Given the description of an element on the screen output the (x, y) to click on. 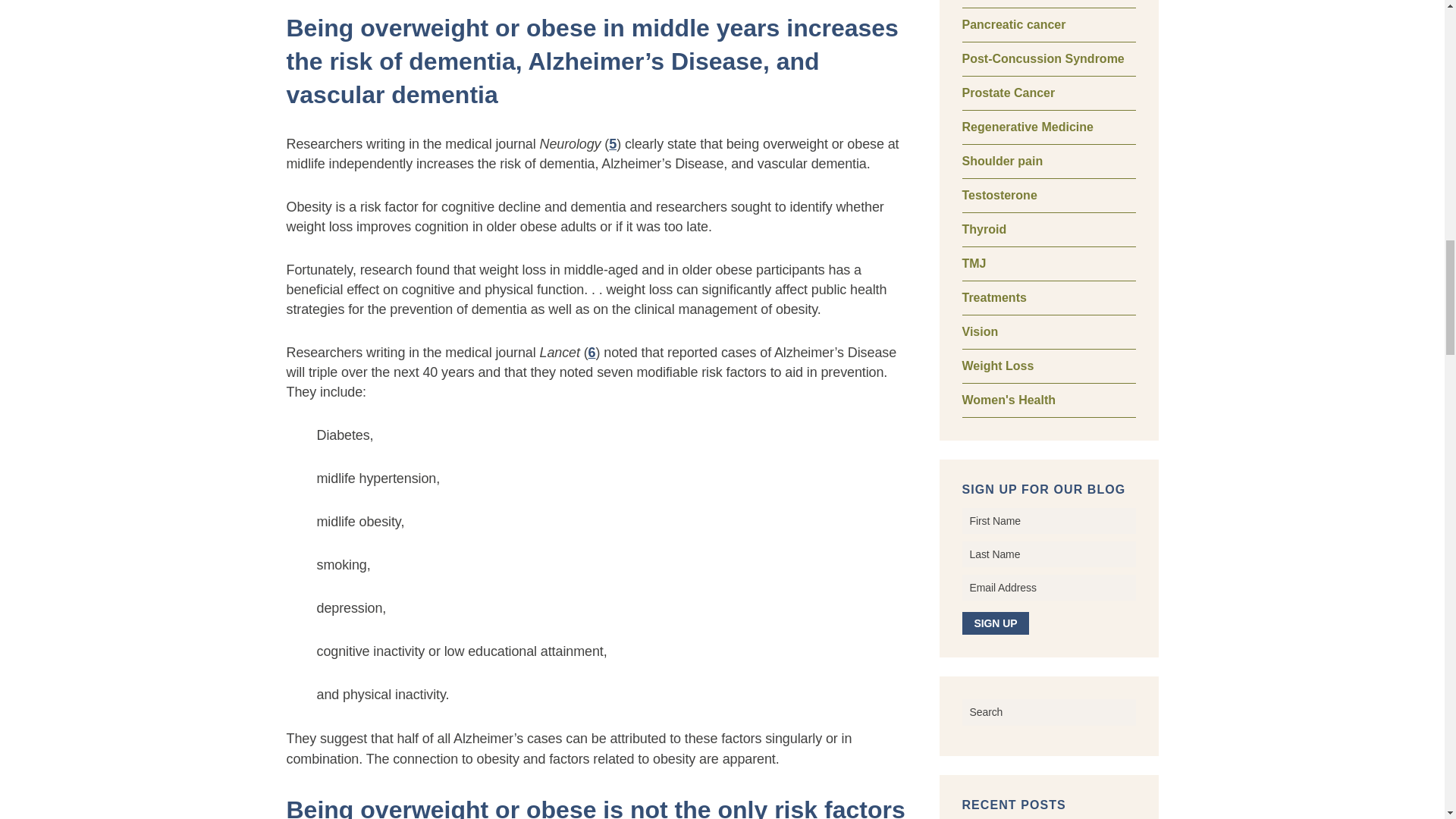
Search (1047, 711)
Sign Up (994, 622)
Search (1047, 711)
